Given the description of an element on the screen output the (x, y) to click on. 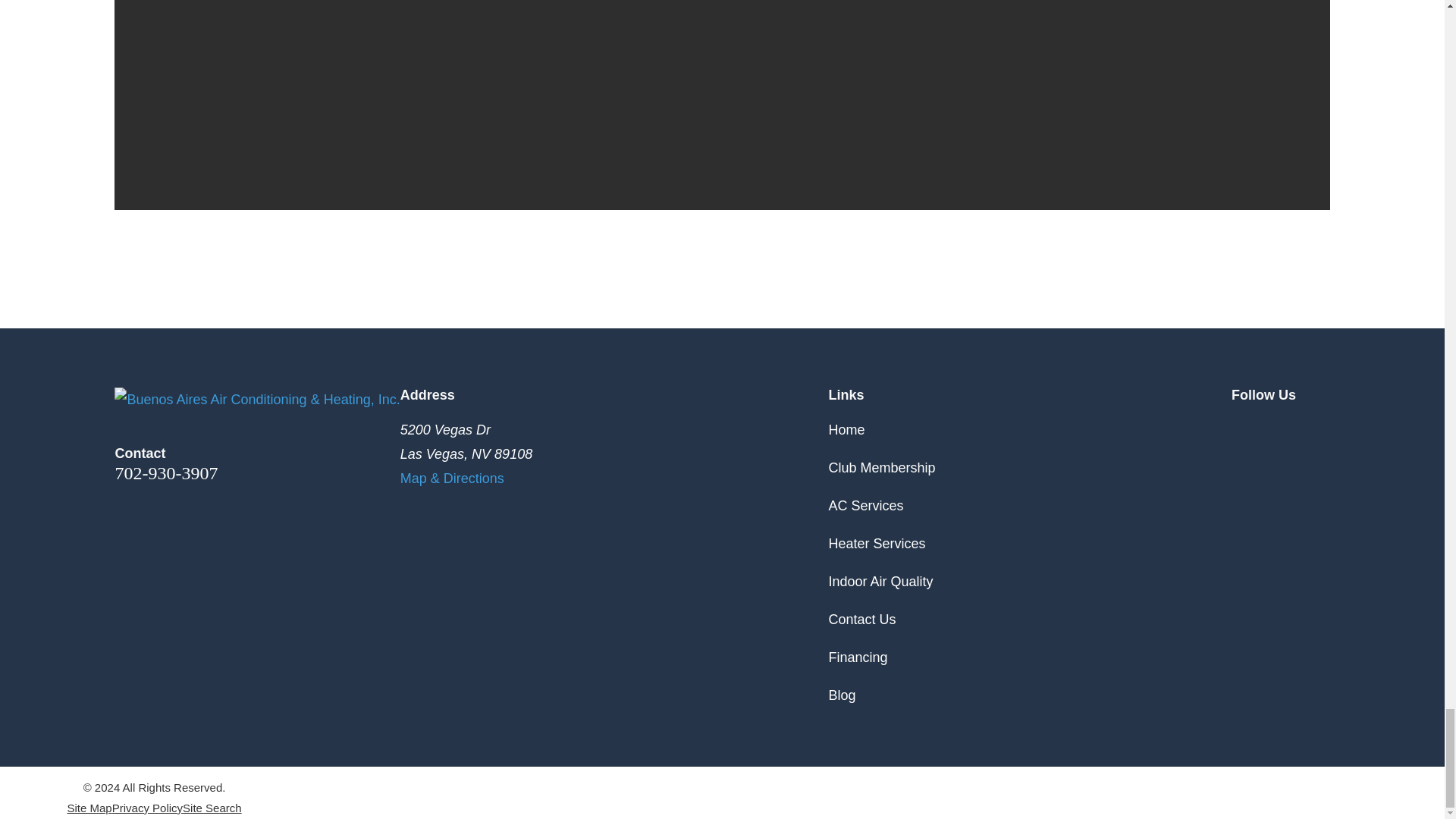
Home (256, 399)
Google Business Profile (1240, 426)
Facebook (1280, 426)
Yelp (1319, 426)
